Given the description of an element on the screen output the (x, y) to click on. 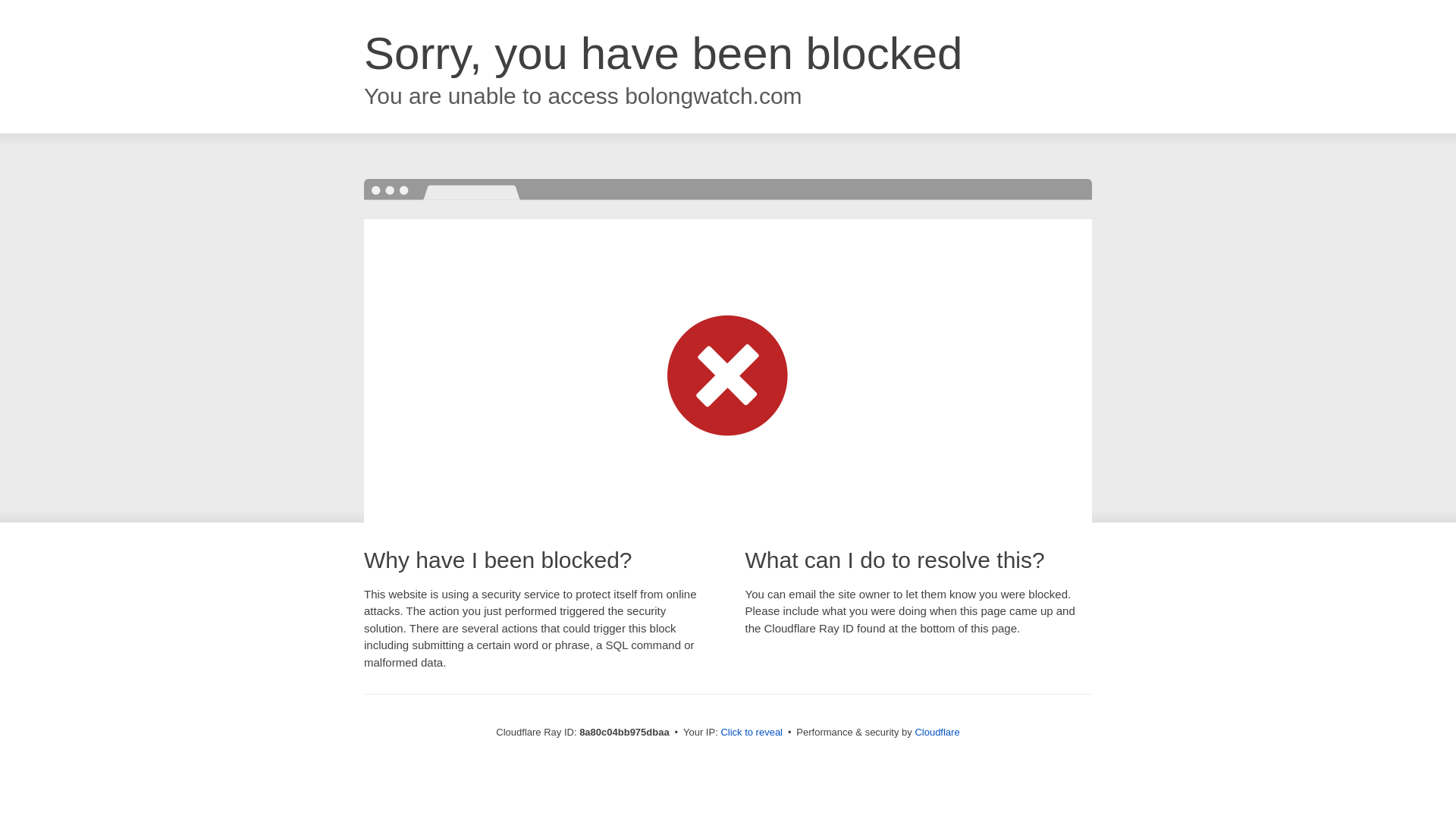
Click to reveal (751, 732)
Cloudflare (936, 731)
